Given the description of an element on the screen output the (x, y) to click on. 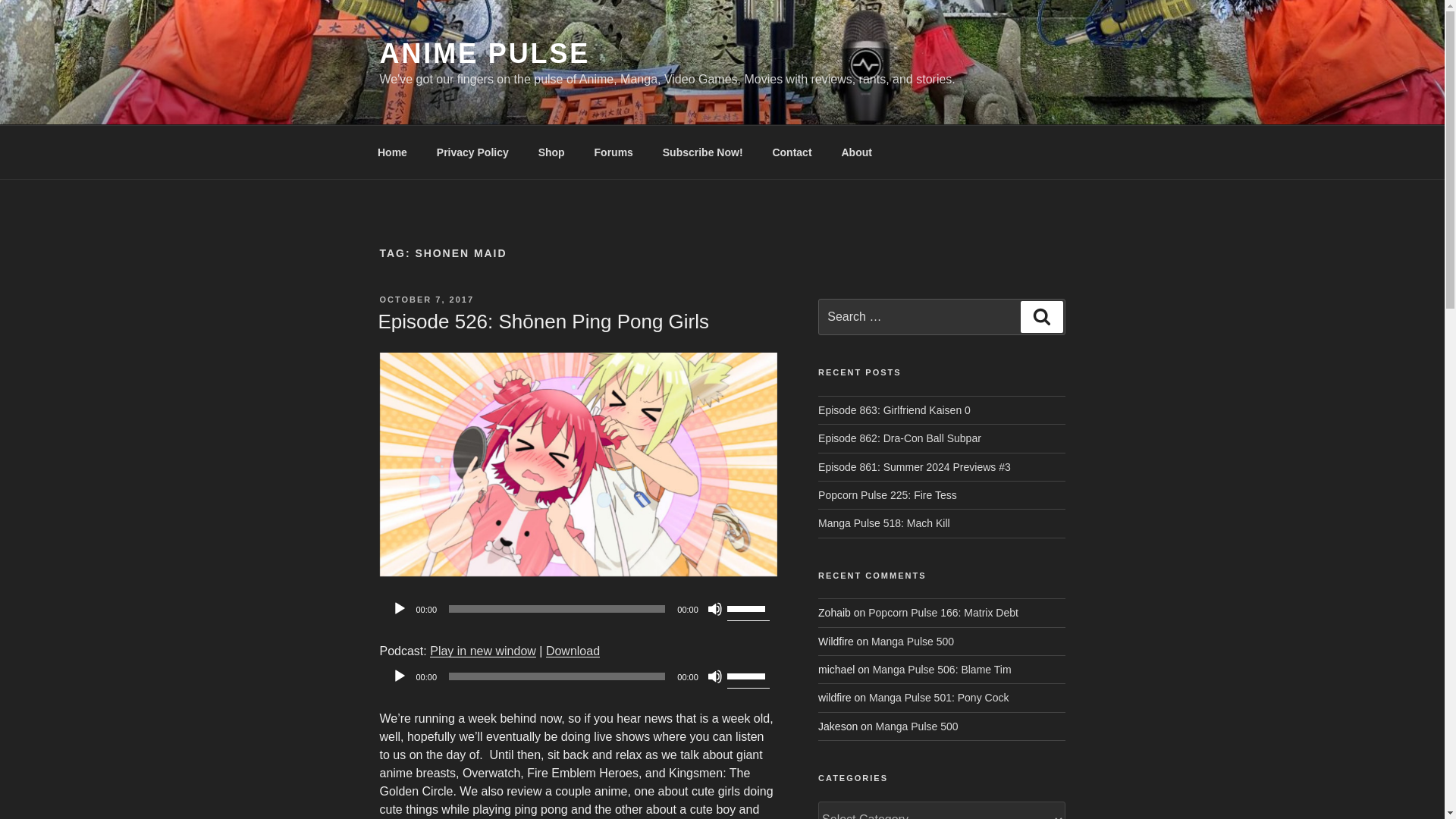
Play in new window (482, 650)
Privacy Policy (472, 151)
Forums (613, 151)
Contact (791, 151)
Home (392, 151)
About (856, 151)
Shop (551, 151)
Download (572, 650)
Mute (714, 608)
Download (572, 650)
